Given the description of an element on the screen output the (x, y) to click on. 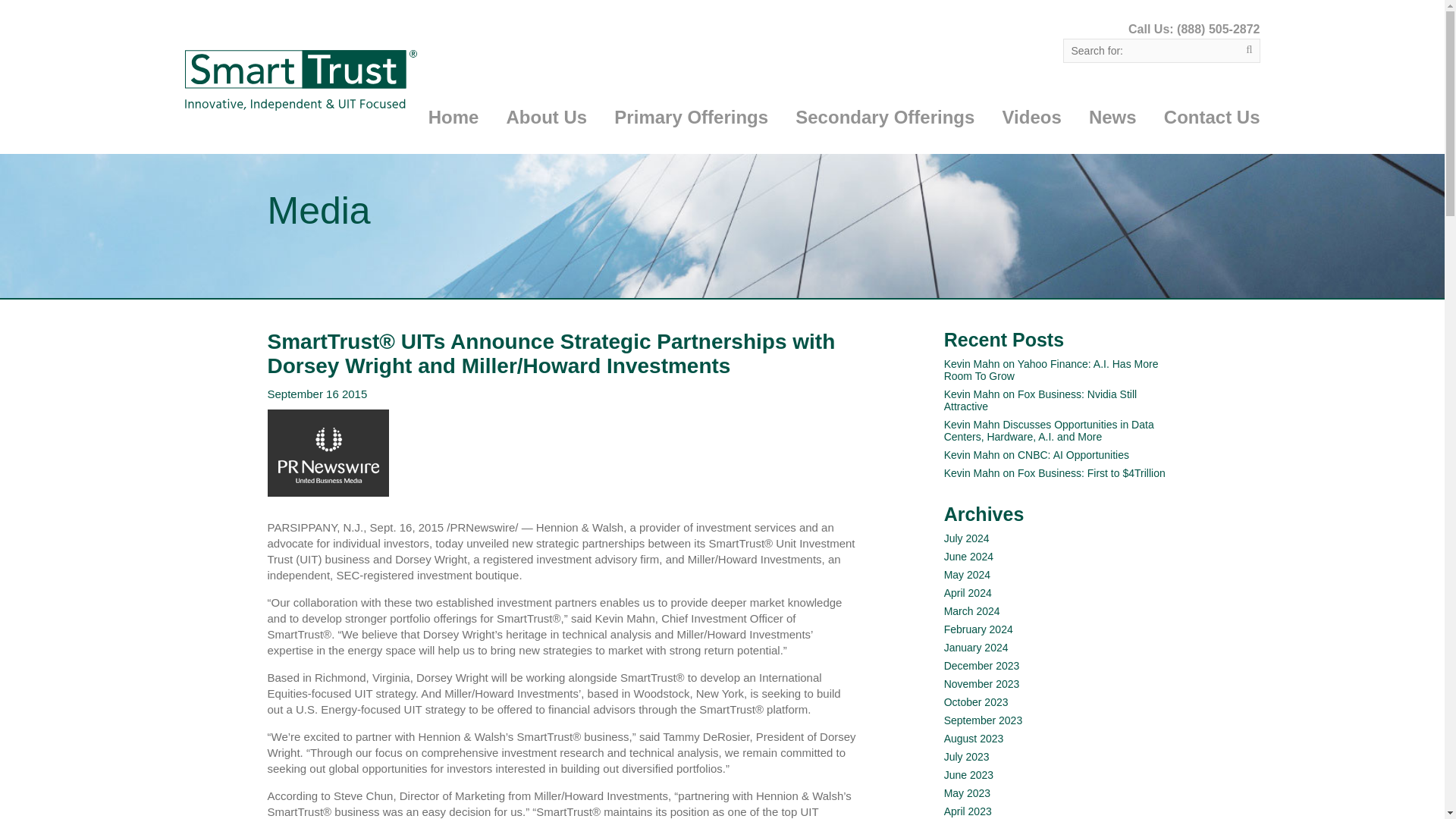
May 2024 (966, 574)
July 2024 (966, 538)
Videos (1032, 130)
Primary Offerings (691, 130)
April 2024 (967, 592)
About Us (547, 130)
Secondary Offerings (884, 130)
December 2023 (981, 665)
Kevin Mahn on CNBC: AI Opportunities (1036, 454)
Kevin Mahn on Yahoo Finance: A.I. Has More Room To Grow (1050, 369)
Contact Us (1211, 130)
January 2024 (976, 647)
March 2024 (971, 611)
June 2024 (967, 556)
